Given the description of an element on the screen output the (x, y) to click on. 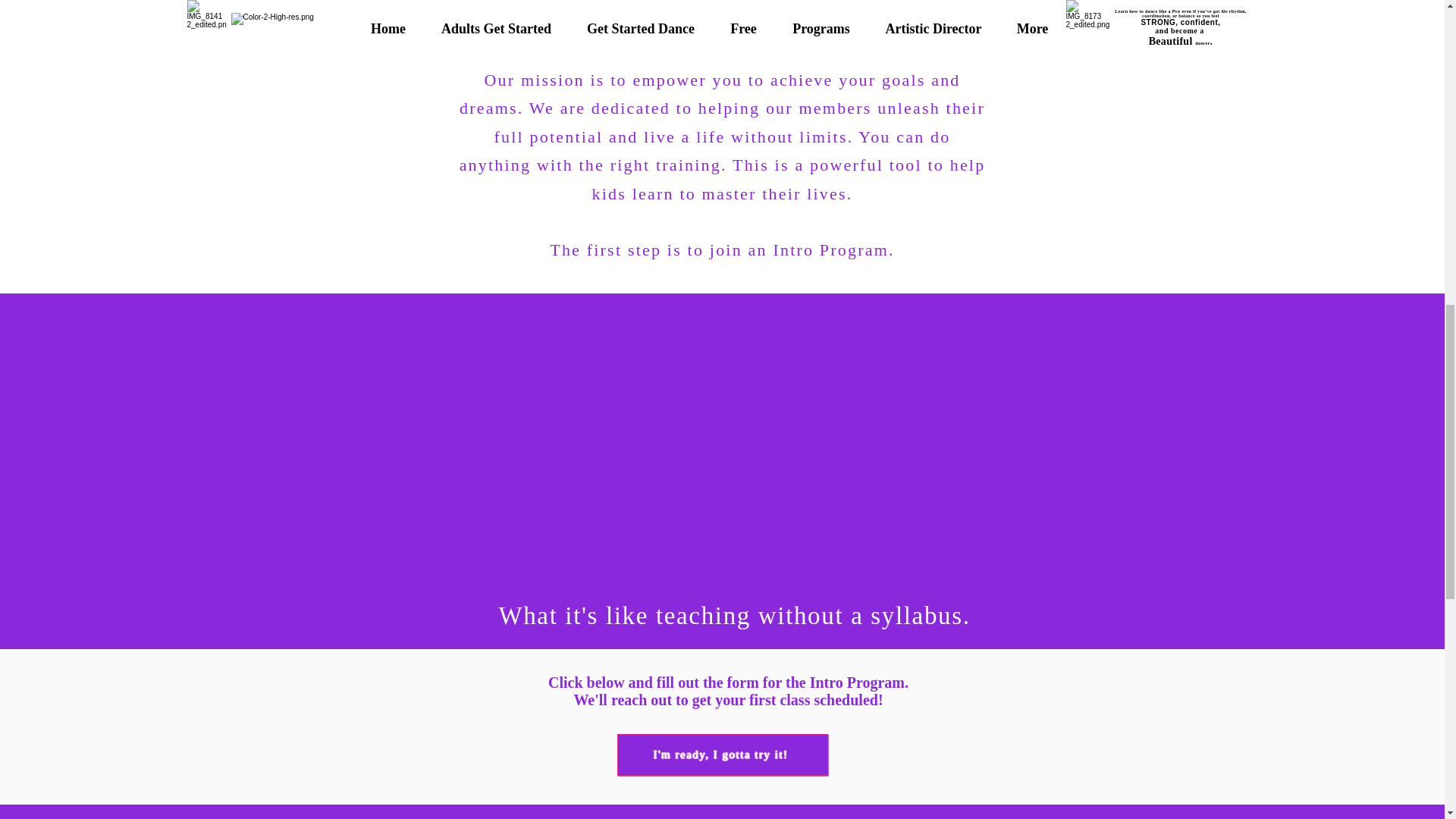
I'm ready, I gotta try it! (722, 754)
